Given the description of an element on the screen output the (x, y) to click on. 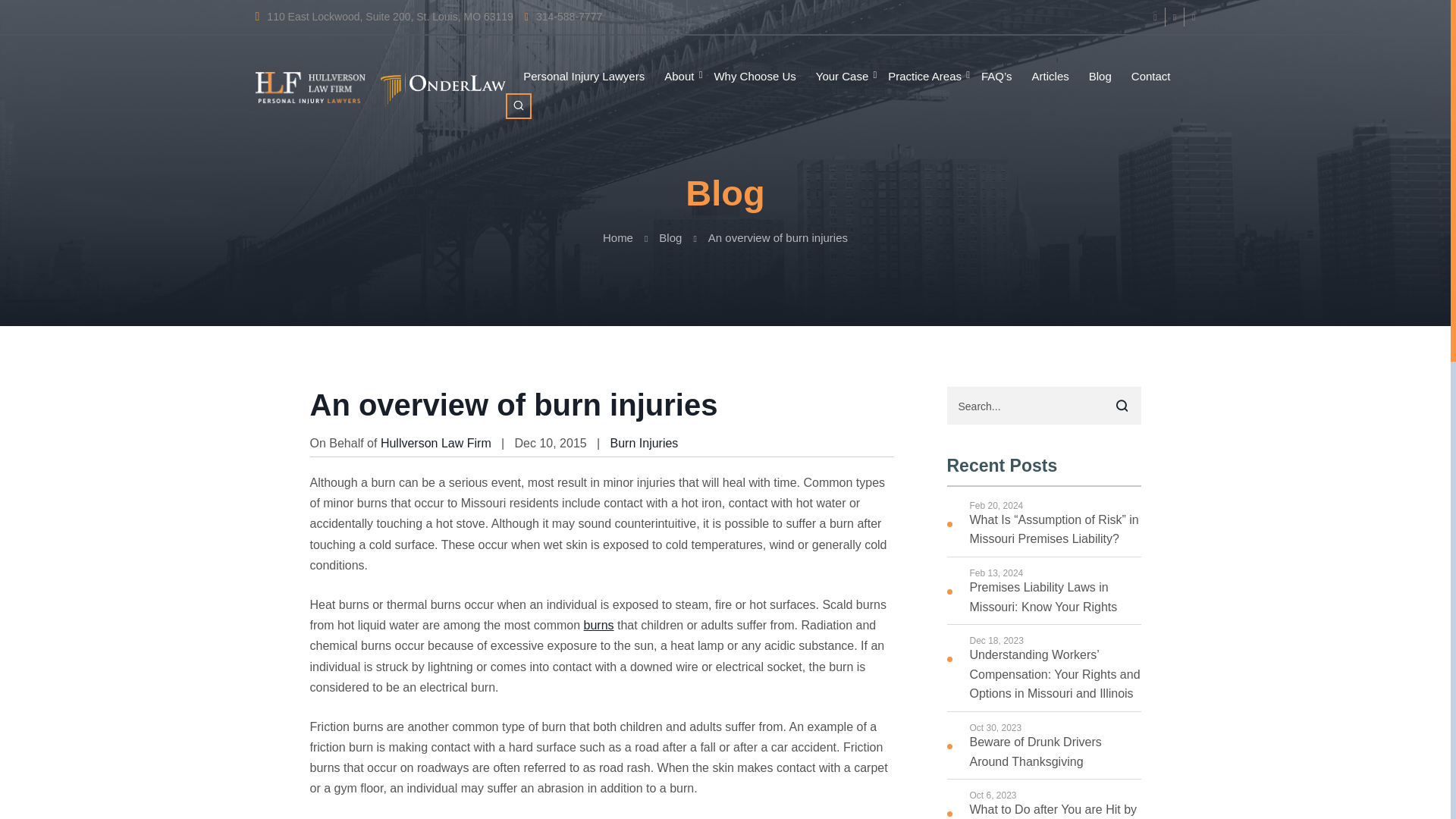
Why Choose Us (754, 76)
Go to Blog. (670, 237)
About (678, 76)
Practice Areas (924, 76)
Your Case (841, 76)
Go to Hullverson Law Firm. (617, 237)
314-588-7777 (563, 16)
Personal Injury Lawyers (583, 76)
